Given the description of an element on the screen output the (x, y) to click on. 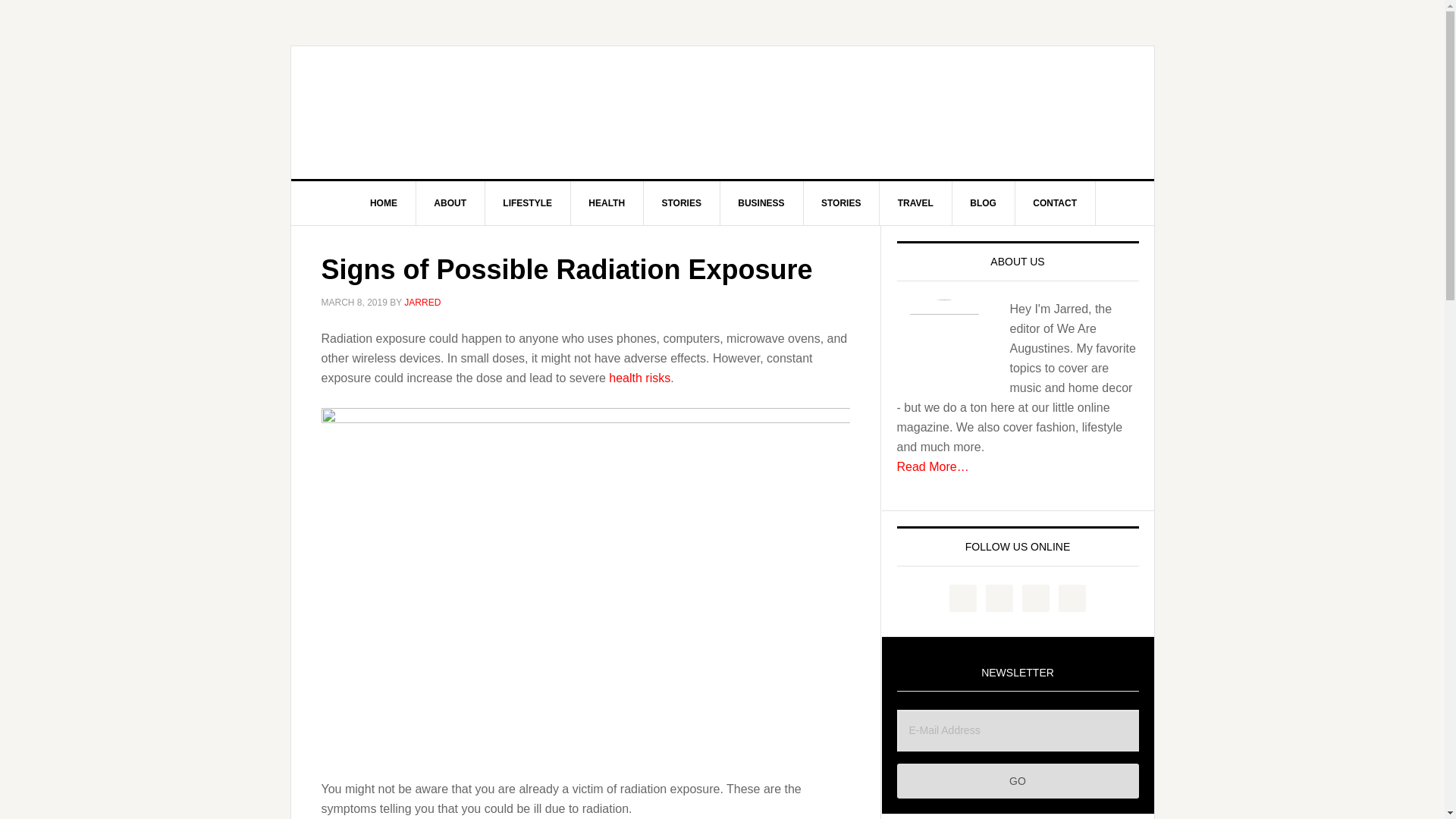
LIFESTYLE (527, 202)
STORIES (681, 202)
CONTACT (1055, 202)
Go (1017, 780)
Go (1017, 780)
BUSINESS (761, 202)
TRAVEL (915, 202)
BLOG (983, 202)
HEALTH (606, 202)
